Given the description of an element on the screen output the (x, y) to click on. 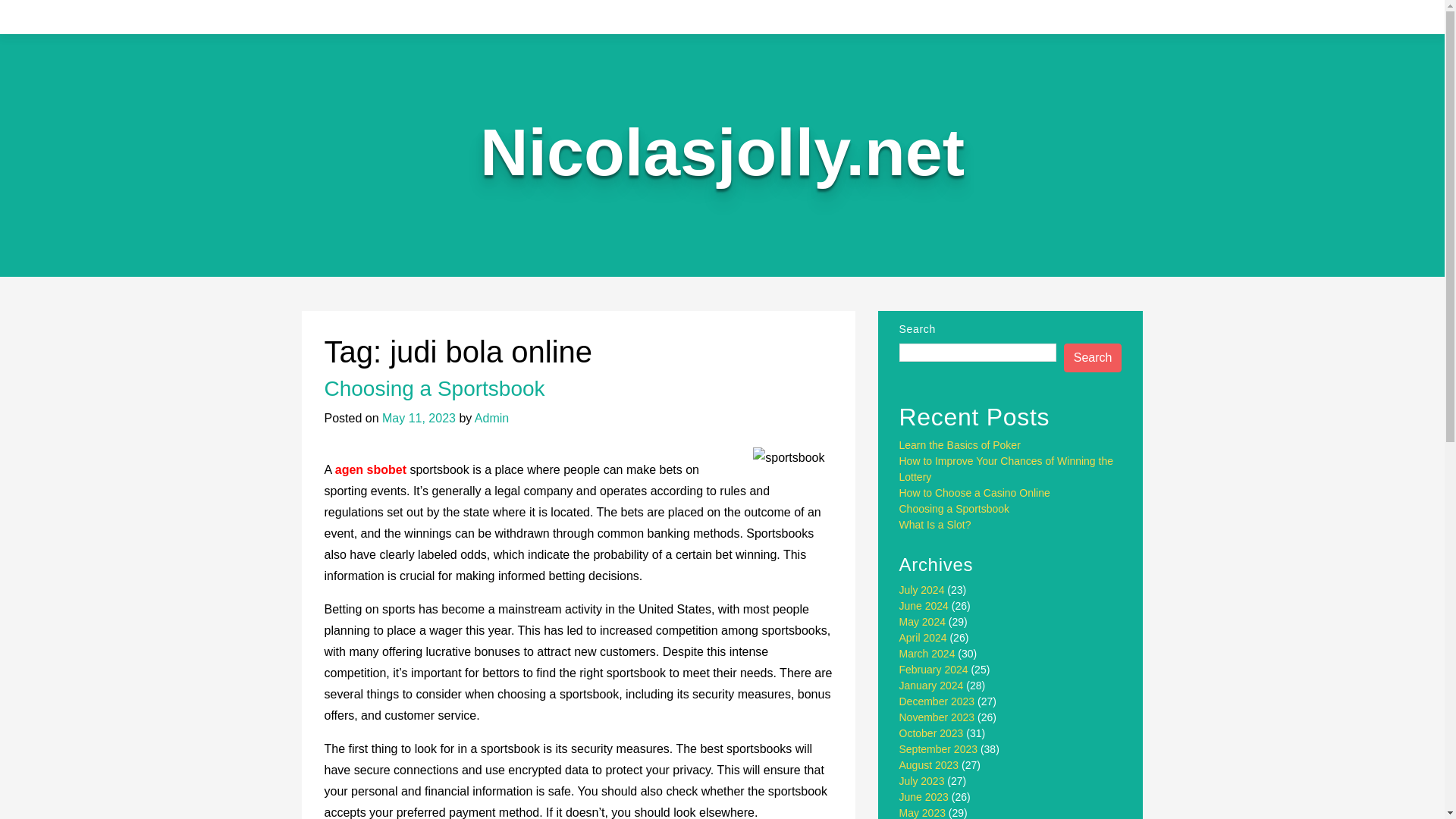
October 2023 (931, 733)
Choosing a Sportsbook (434, 388)
Admin (491, 418)
May 11, 2023 (418, 418)
July 2024 (921, 589)
February 2024 (933, 669)
June 2024 (924, 605)
September 2023 (938, 748)
May 2024 (921, 621)
Choosing a Sportsbook (954, 508)
How to Improve Your Chances of Winning the Lottery (1006, 469)
How to Choose a Casino Online (974, 492)
April 2024 (923, 637)
What Is a Slot? (935, 524)
March 2024 (927, 653)
